Given the description of an element on the screen output the (x, y) to click on. 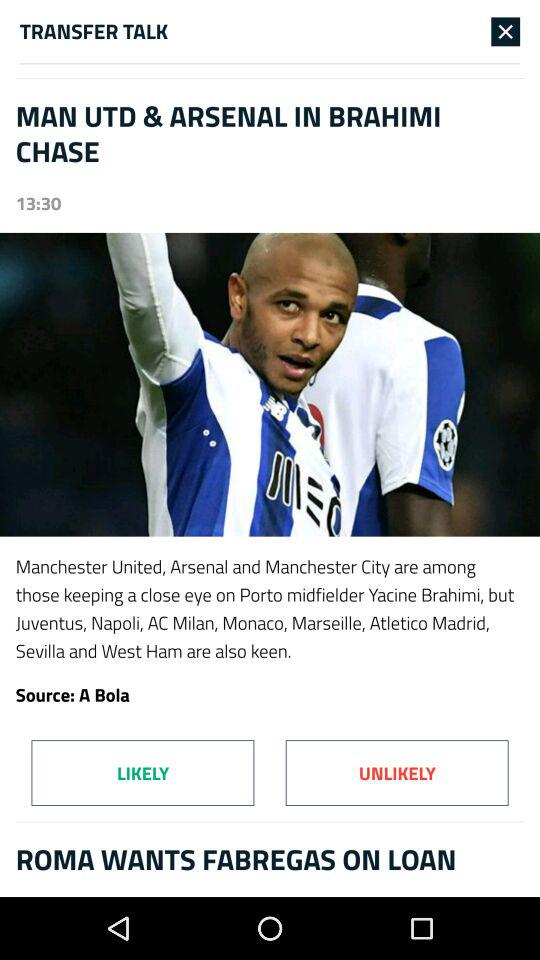
tap icon below source: a bola icon (142, 772)
